Given the description of an element on the screen output the (x, y) to click on. 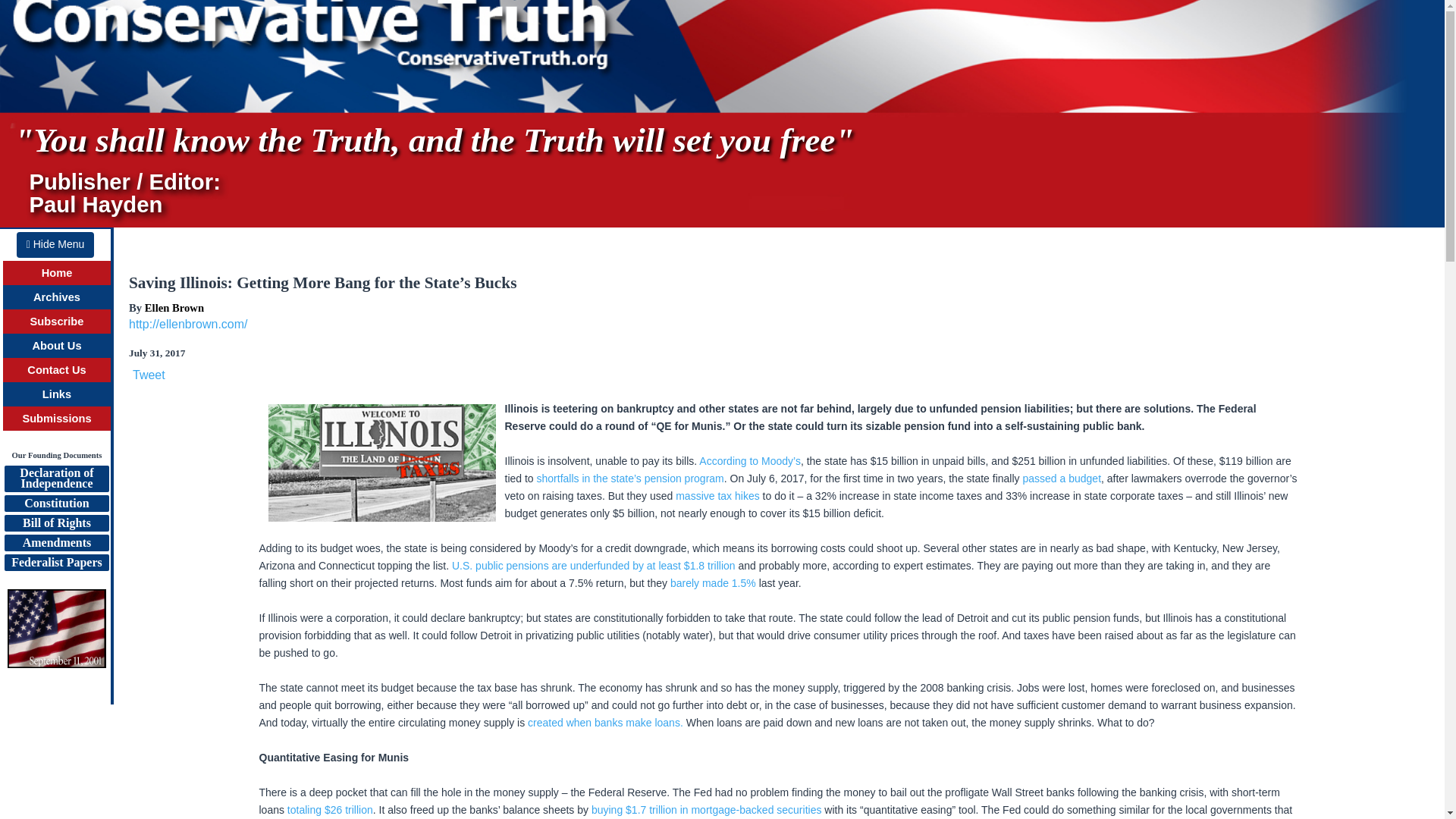
passed a budget (1061, 478)
Constitution (56, 503)
Bill of Rights (56, 523)
Home (57, 272)
Contact Us (56, 369)
Archives (56, 297)
About Us (56, 345)
Tweet (148, 374)
created when banks make loans. (604, 722)
Amendments (56, 542)
